Given the description of an element on the screen output the (x, y) to click on. 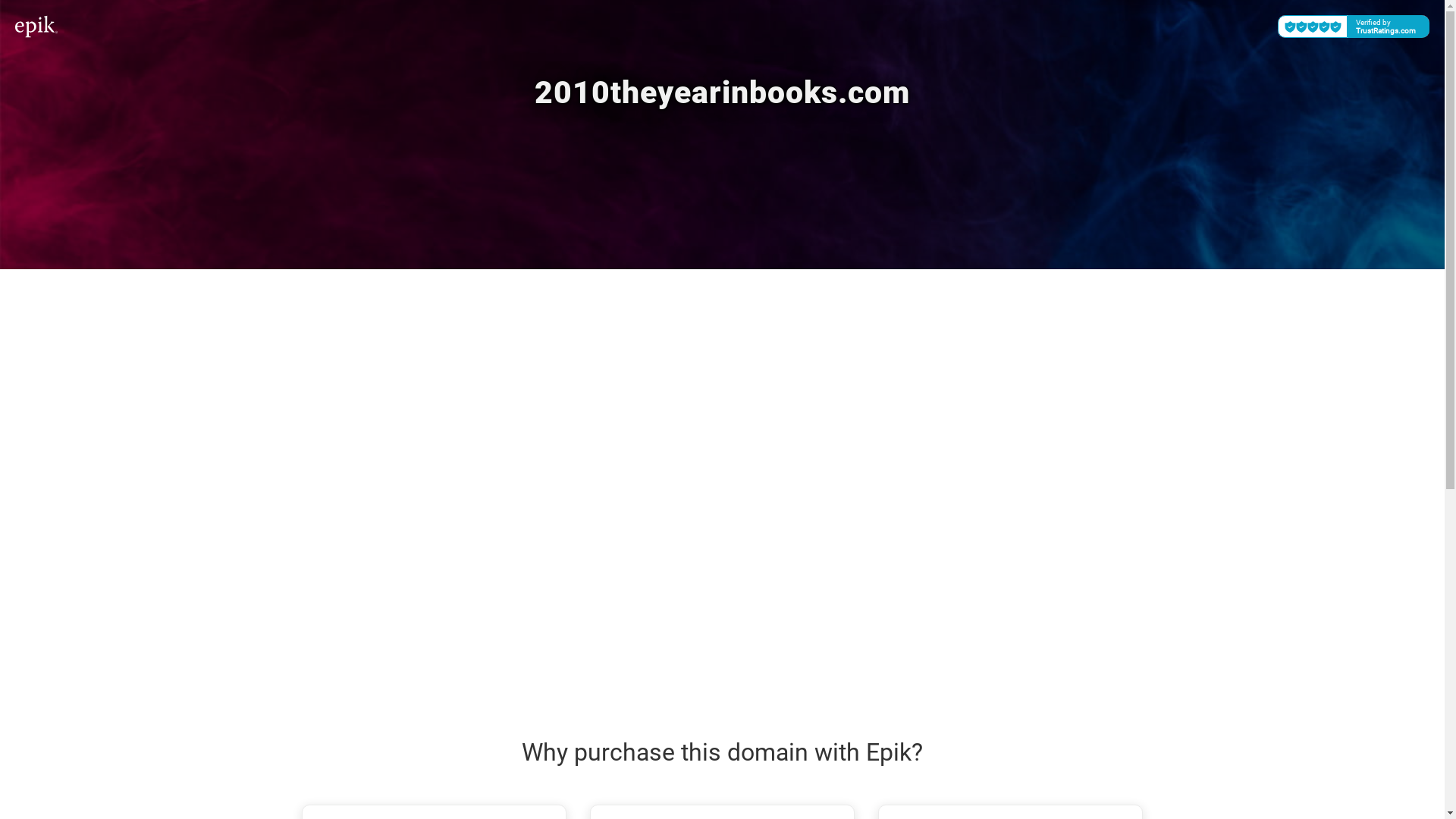
Verified by TrustRatings.com Element type: hover (1353, 26)
